Given the description of an element on the screen output the (x, y) to click on. 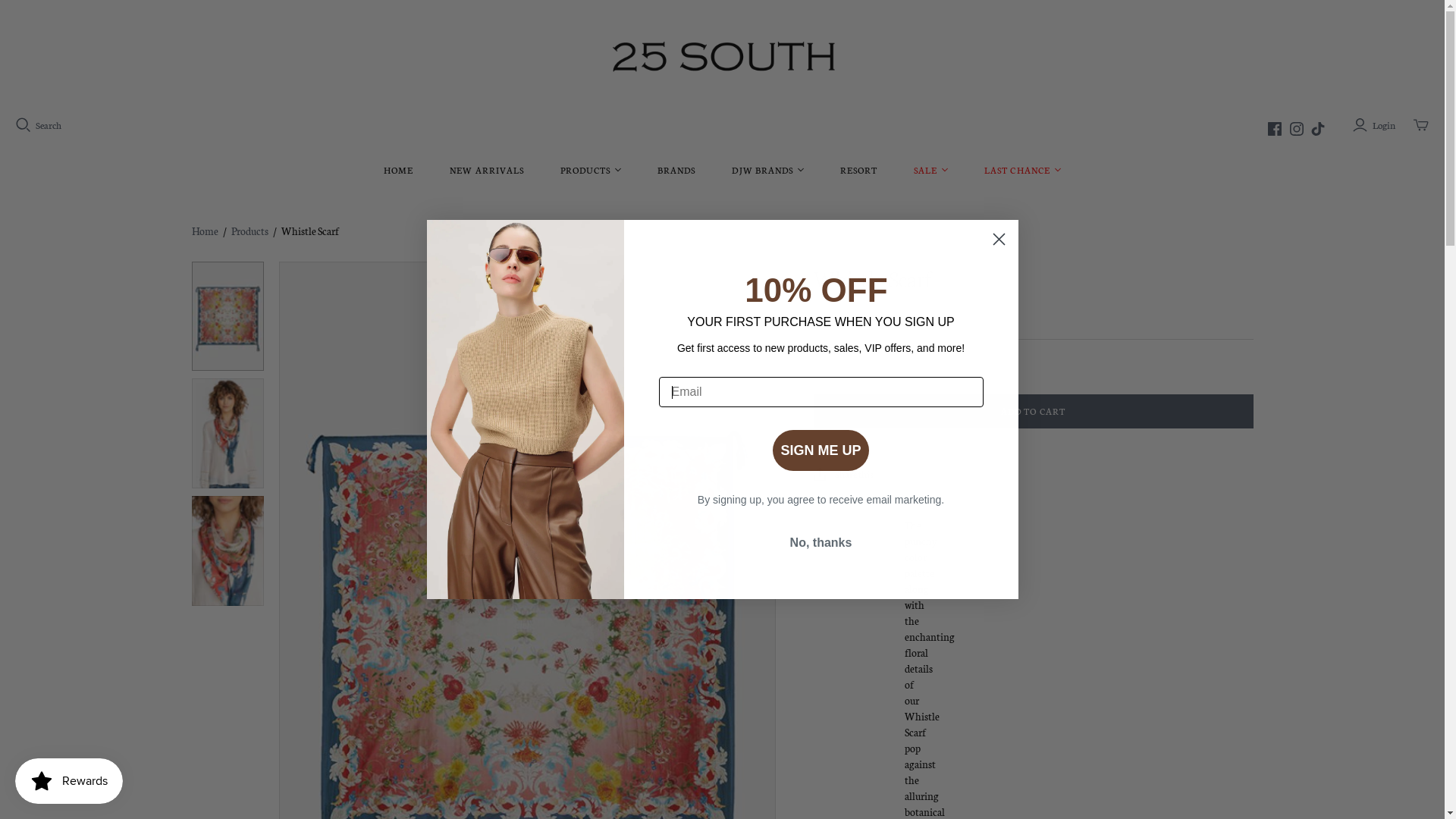
Products Element type: text (248, 230)
RESORT Element type: text (858, 169)
Submit Element type: text (23, 7)
Johnny Was Element type: text (843, 316)
Home Element type: text (204, 230)
BRANDS Element type: text (676, 169)
Share this Element type: text (842, 473)
No, thanks Element type: text (820, 542)
HOME Element type: text (398, 169)
SIGN ME UP Element type: text (820, 449)
ADD TO CART Element type: text (1032, 411)
Smile.io Rewards Program Launcher Element type: hover (68, 780)
Login Element type: text (1375, 123)
NEW ARRIVALS Element type: text (486, 169)
